Given the description of an element on the screen output the (x, y) to click on. 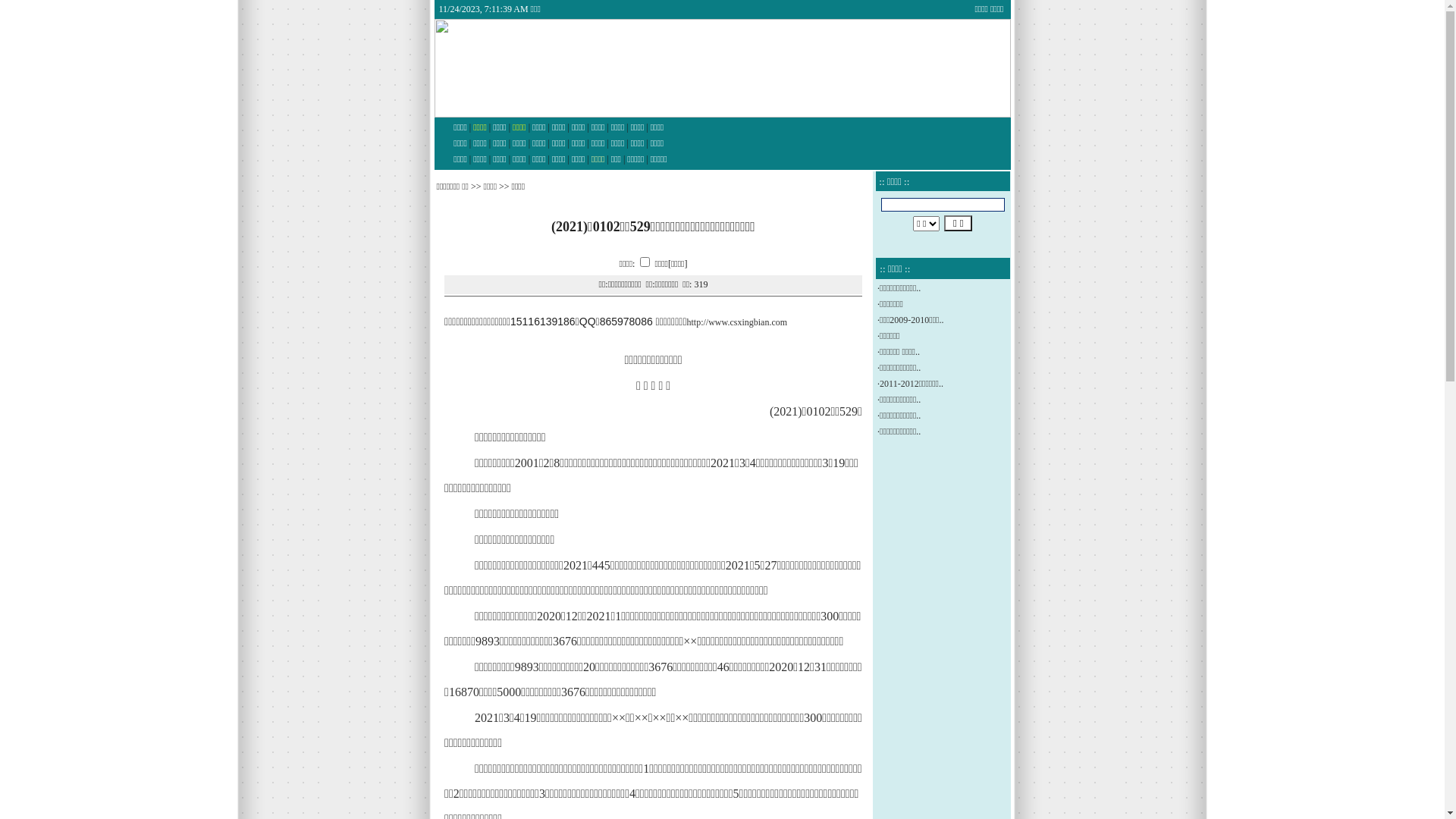
on Element type: text (644, 261)
http://www.csxingbian.com Element type: text (737, 321)
